Given the description of an element on the screen output the (x, y) to click on. 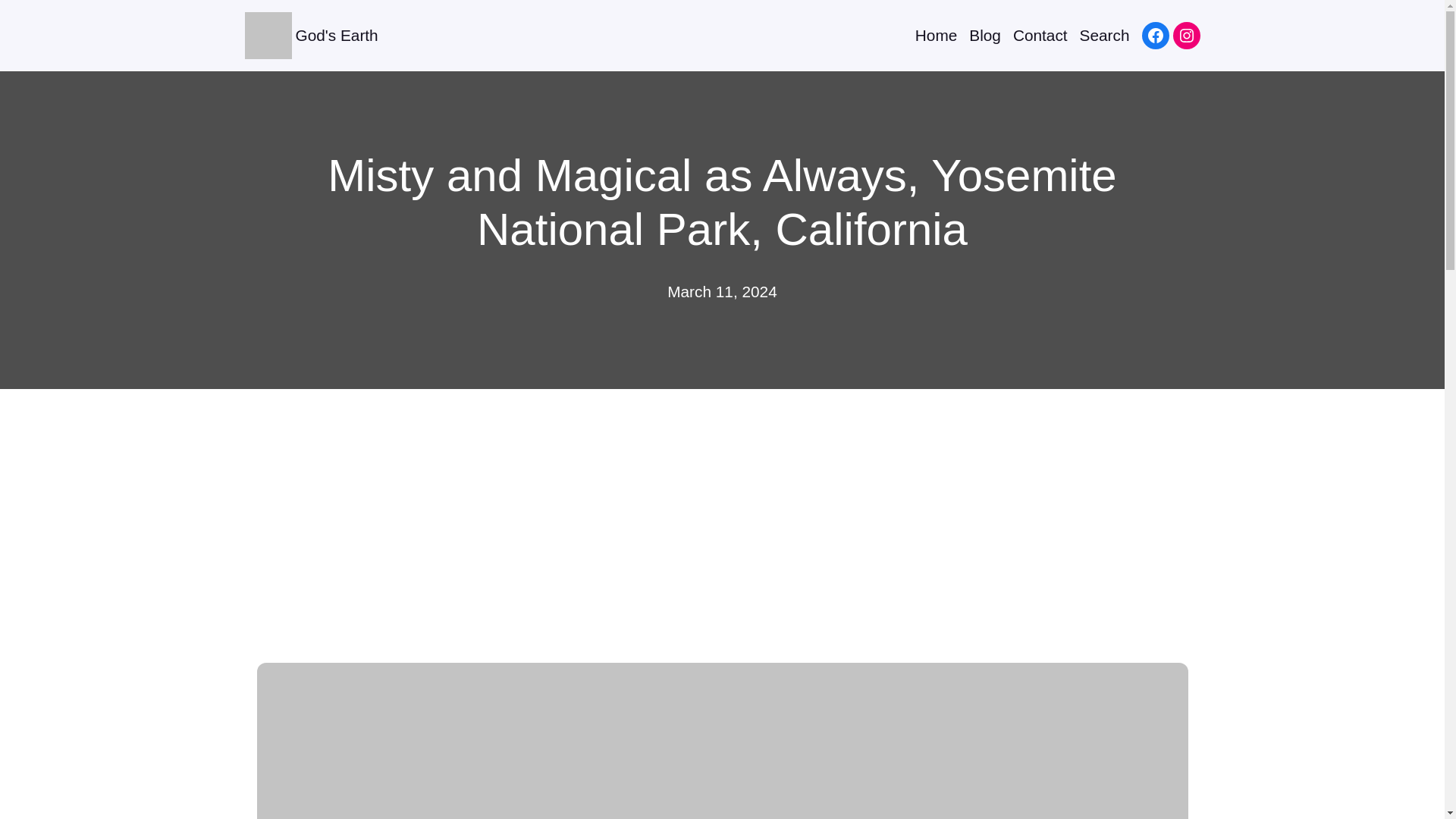
Contact (1040, 35)
Instagram (1185, 35)
Home (935, 35)
Blog (985, 35)
God's Earth (336, 35)
Search (1104, 35)
Facebook (1155, 35)
